Given the description of an element on the screen output the (x, y) to click on. 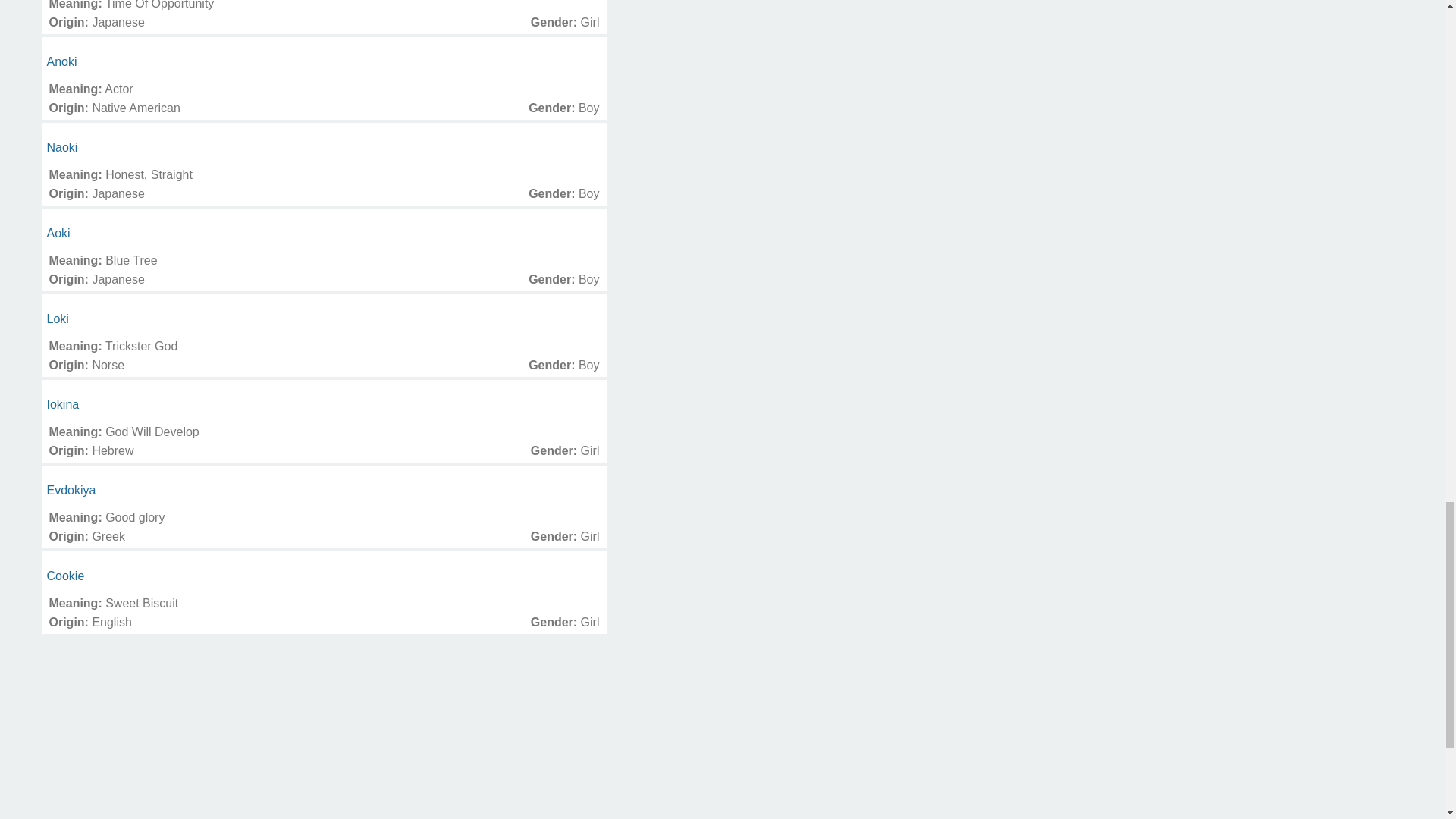
Aoki (57, 232)
Loki (57, 318)
Cookie (65, 575)
Evdokiya (71, 490)
Iokina (63, 404)
Naoki (62, 146)
Anoki (61, 61)
